Given the description of an element on the screen output the (x, y) to click on. 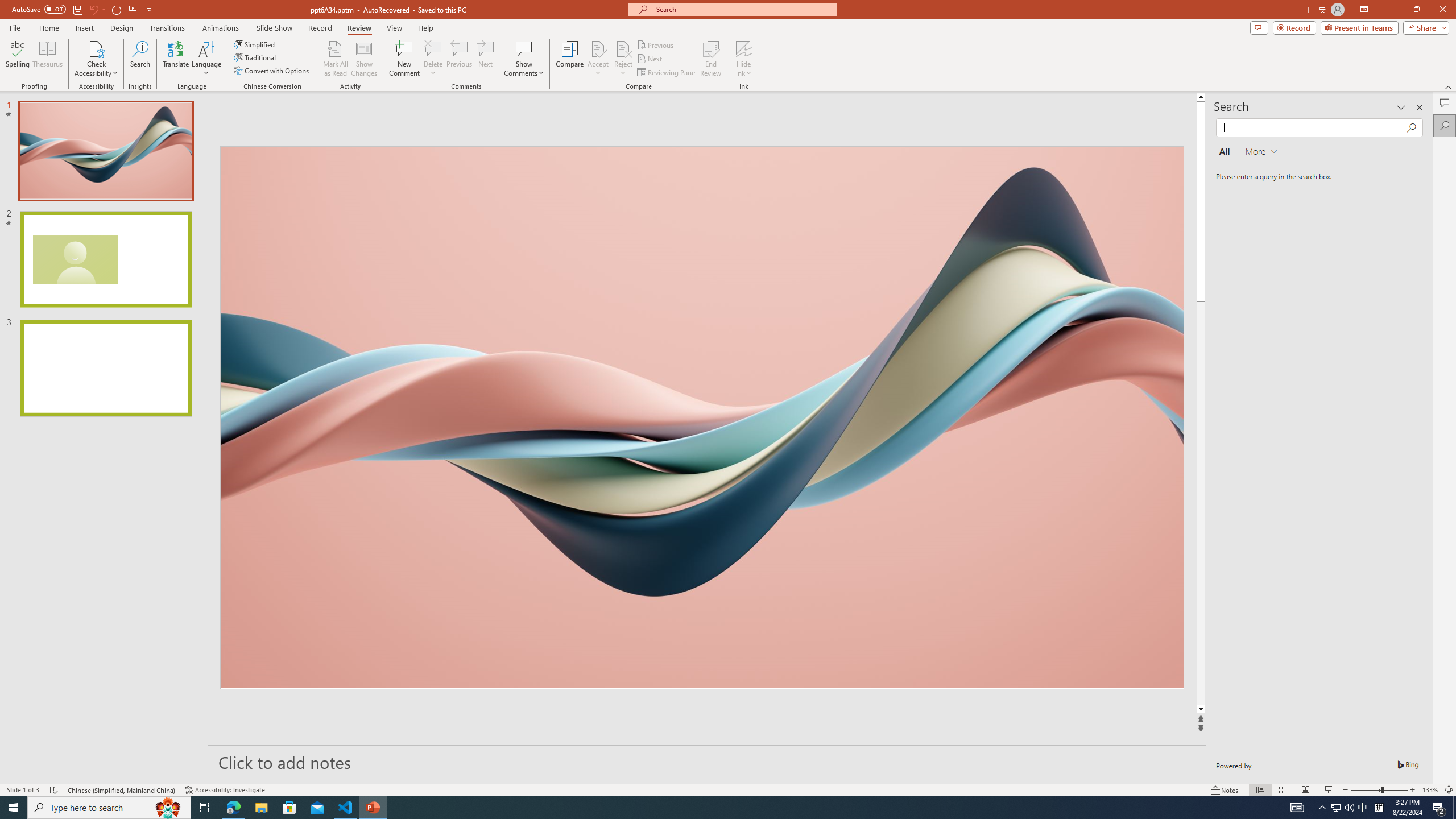
New Comment (403, 58)
Accept (598, 58)
End Review (710, 58)
Accept Change (598, 48)
